Given the description of an element on the screen output the (x, y) to click on. 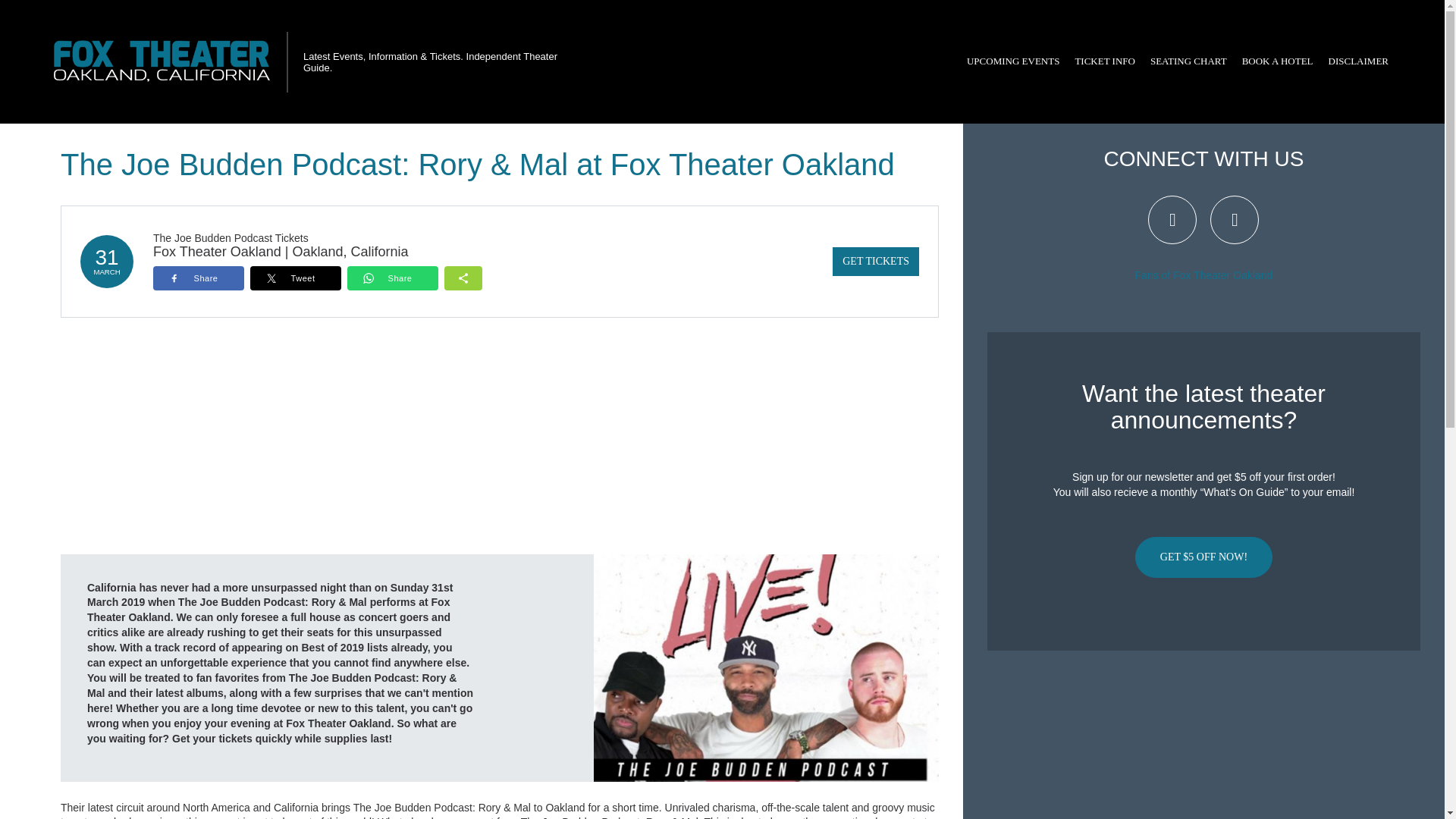
BOOK A HOTEL (1277, 61)
SEATING CHART (1188, 61)
UPCOMING EVENTS (1013, 61)
TICKET INFO (1104, 61)
DISCLAIMER (1358, 61)
Fans of Fox Theater Oakland (1203, 275)
Advertisement (1204, 759)
The Joe Budden Podcast Tickets (230, 237)
GET TICKETS (875, 261)
